Given the description of an element on the screen output the (x, y) to click on. 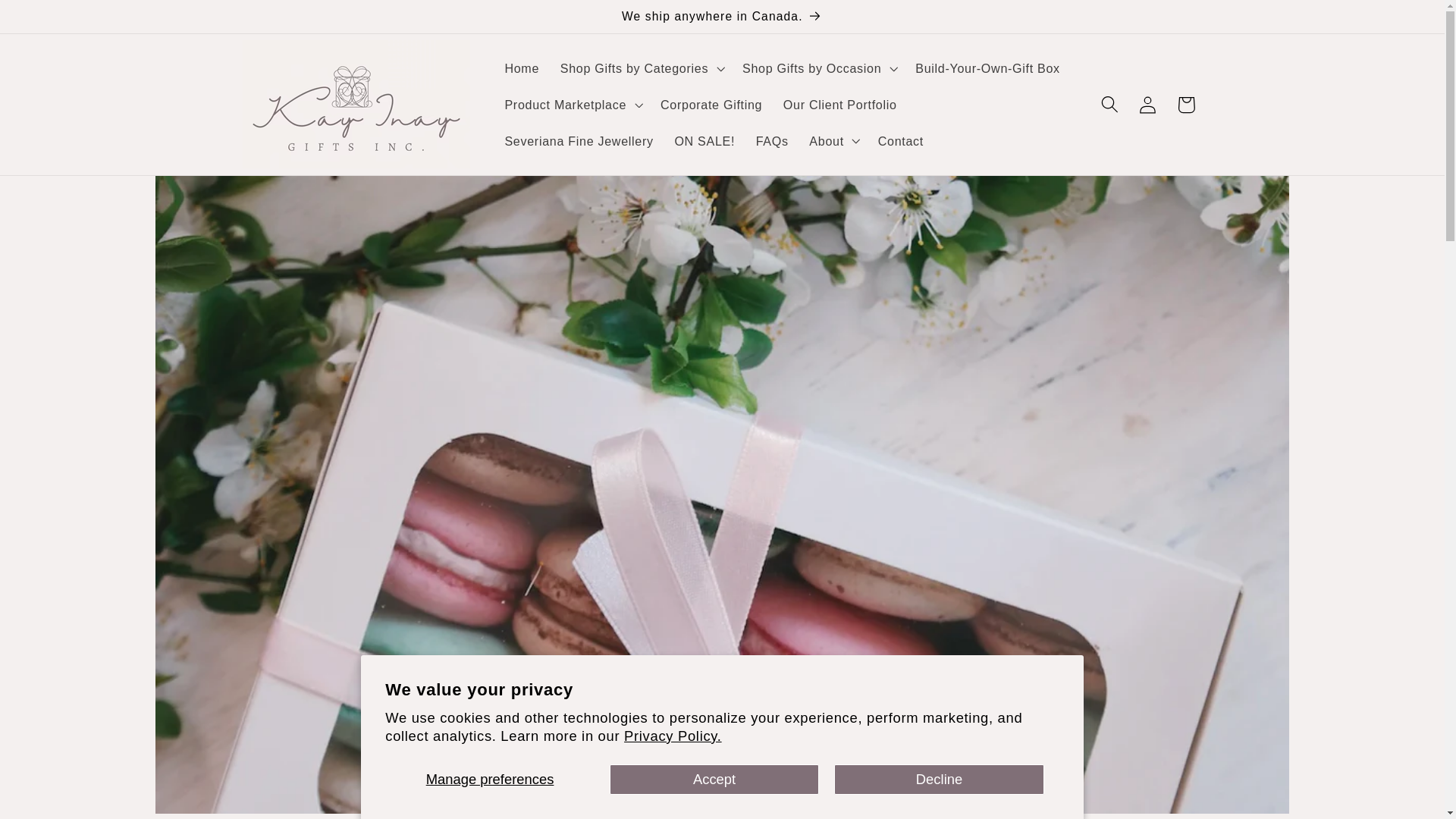
Manage preferences (489, 779)
Privacy Policy. (673, 735)
Accept (714, 779)
Skip to content (52, 20)
We ship anywhere in Canada. (722, 16)
Decline (938, 779)
